Given the description of an element on the screen output the (x, y) to click on. 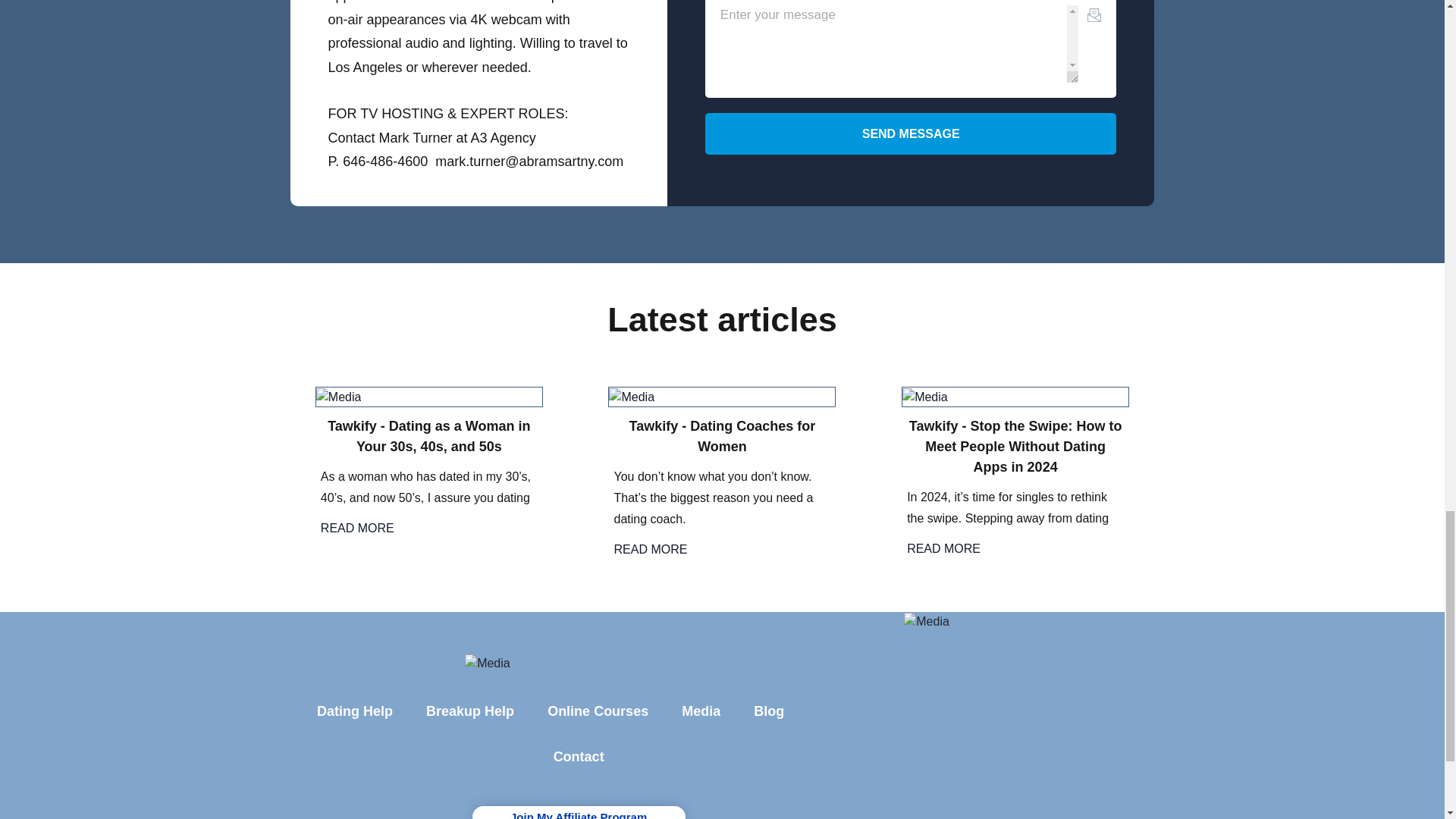
Dating-as-a-Woman-in-Your-30s-40s-and-50s-2048x1024 (338, 397)
Breakup Help (469, 711)
Dating Help (354, 711)
Dating-Coaches-for-Women-2048x1024 (630, 397)
Join My Affiliate Program (578, 812)
Blog (796, 711)
READ MORE (357, 527)
READ MORE (943, 548)
SEND MESSAGE (910, 133)
How-to-Meet-People-Without-Dating-Apps-2048x1024 (924, 397)
